Given the description of an element on the screen output the (x, y) to click on. 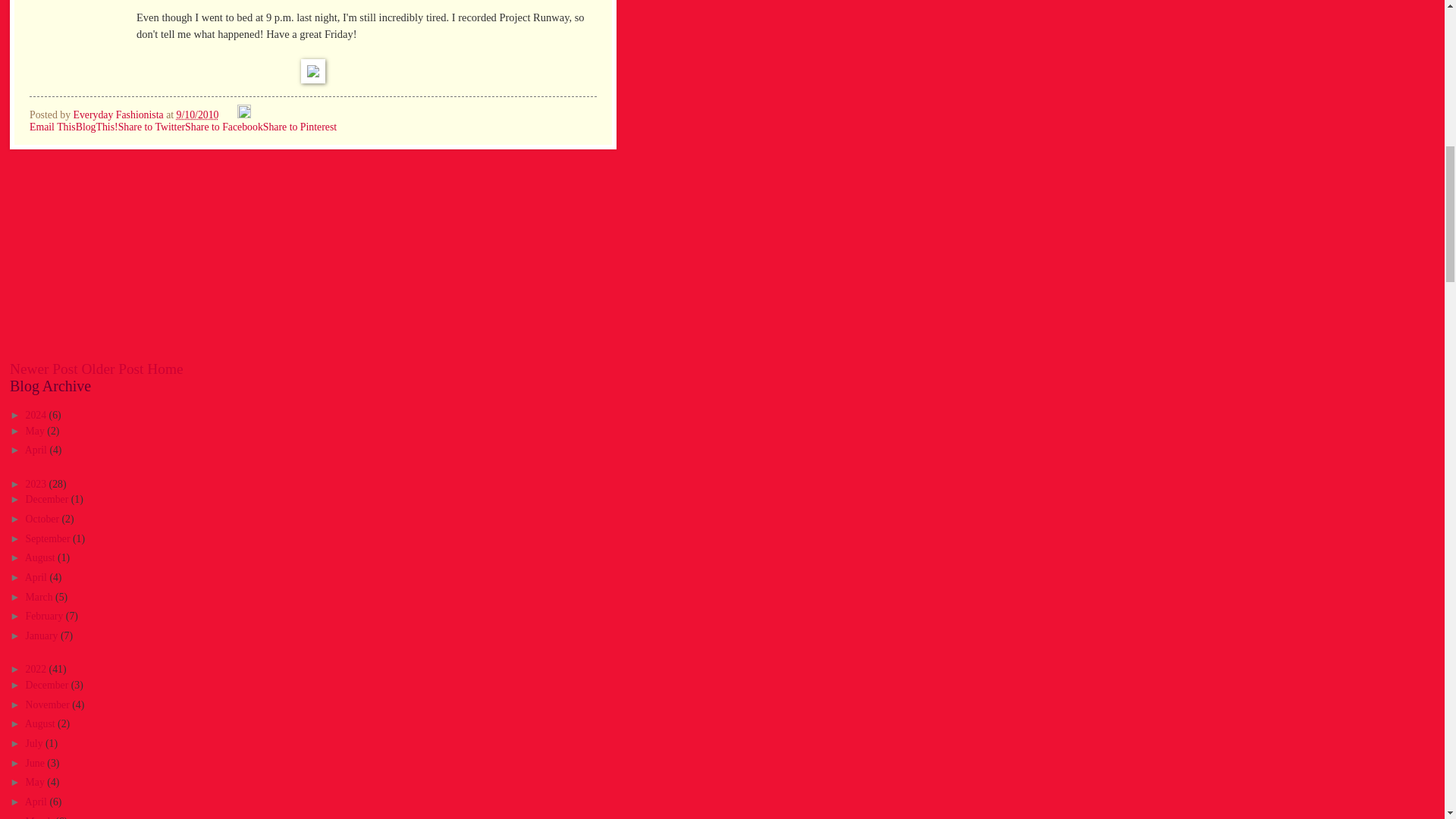
December (48, 499)
Older Post (111, 368)
permanent link (197, 114)
May (37, 430)
Advertisement (123, 262)
April (36, 449)
September (49, 538)
Share to Pinterest (299, 126)
Home (165, 368)
February (45, 615)
Share to Twitter (150, 126)
BlogThis! (96, 126)
March (40, 596)
Older Post (111, 368)
2023 (37, 483)
